Given the description of an element on the screen output the (x, y) to click on. 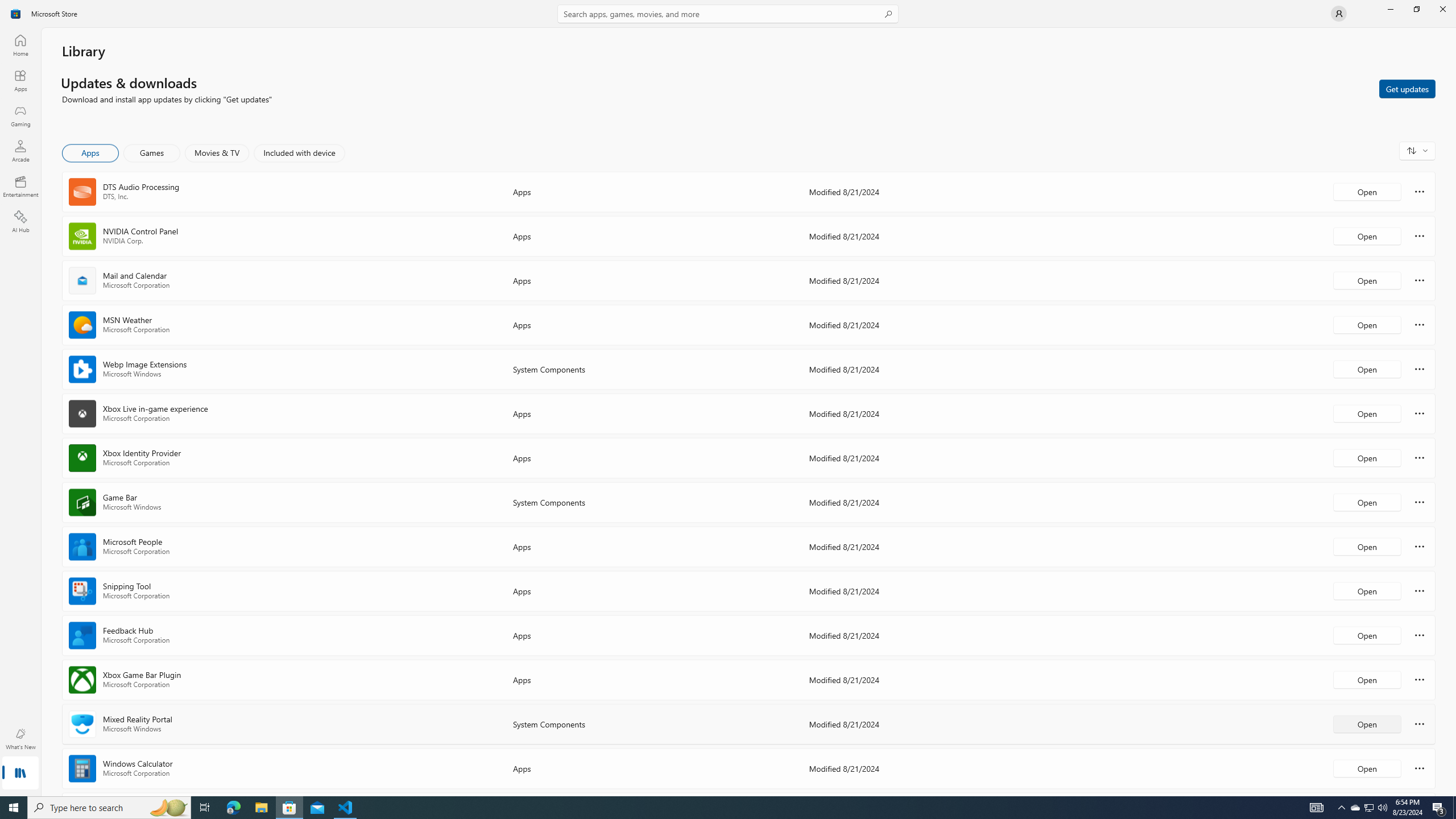
Movies & TV (216, 153)
Restore Microsoft Store (1416, 9)
Apps (20, 80)
Entertainment (20, 185)
Search (727, 13)
Get updates (1406, 88)
AI Hub (20, 221)
AutomationID: NavigationControl (728, 398)
